Given the description of an element on the screen output the (x, y) to click on. 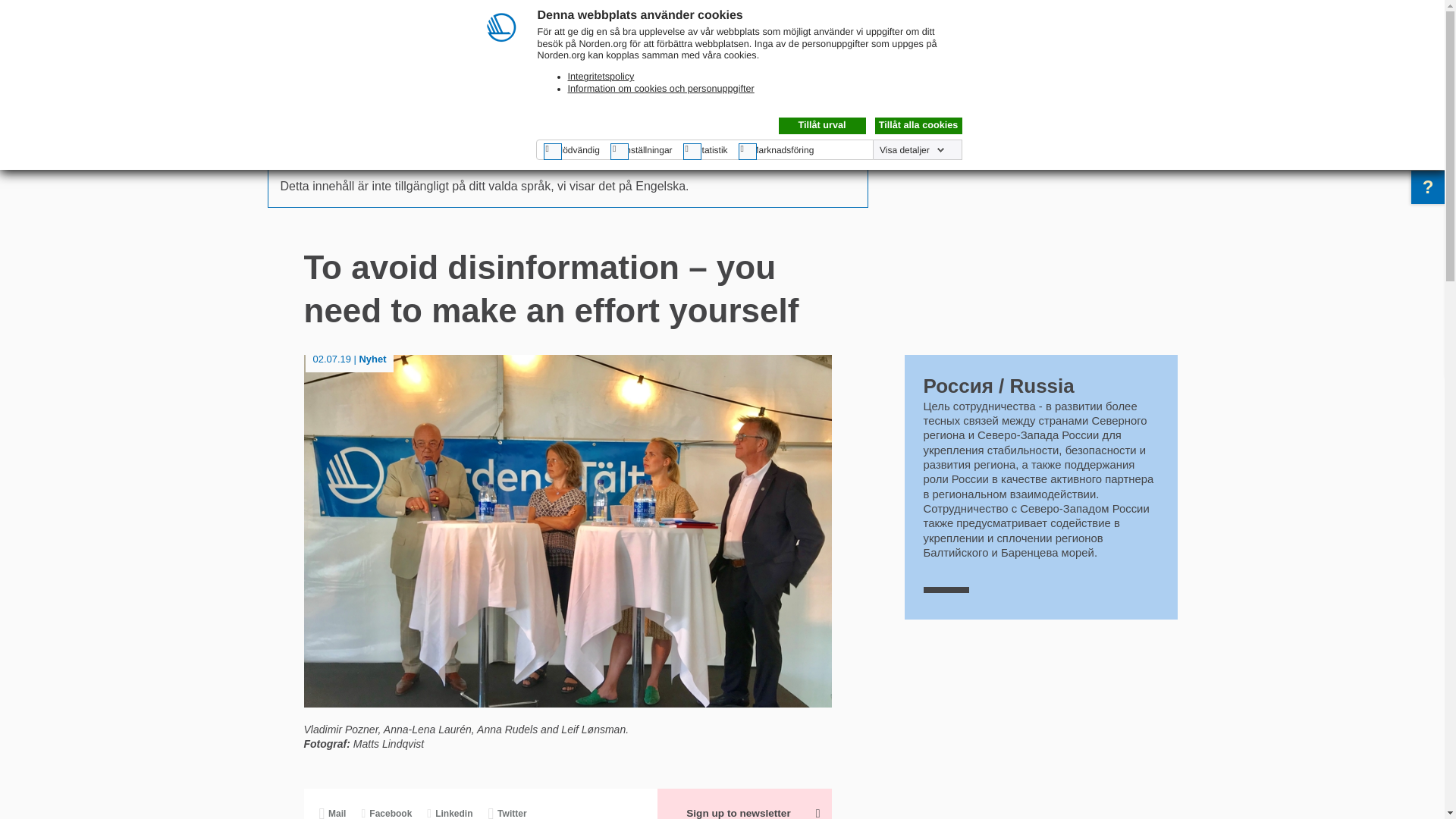
Integritetspolicy (600, 76)
Visa detaljer (911, 150)
Information om cookies och personuppgifter (660, 88)
Integritetspolicy (600, 76)
